Given the description of an element on the screen output the (x, y) to click on. 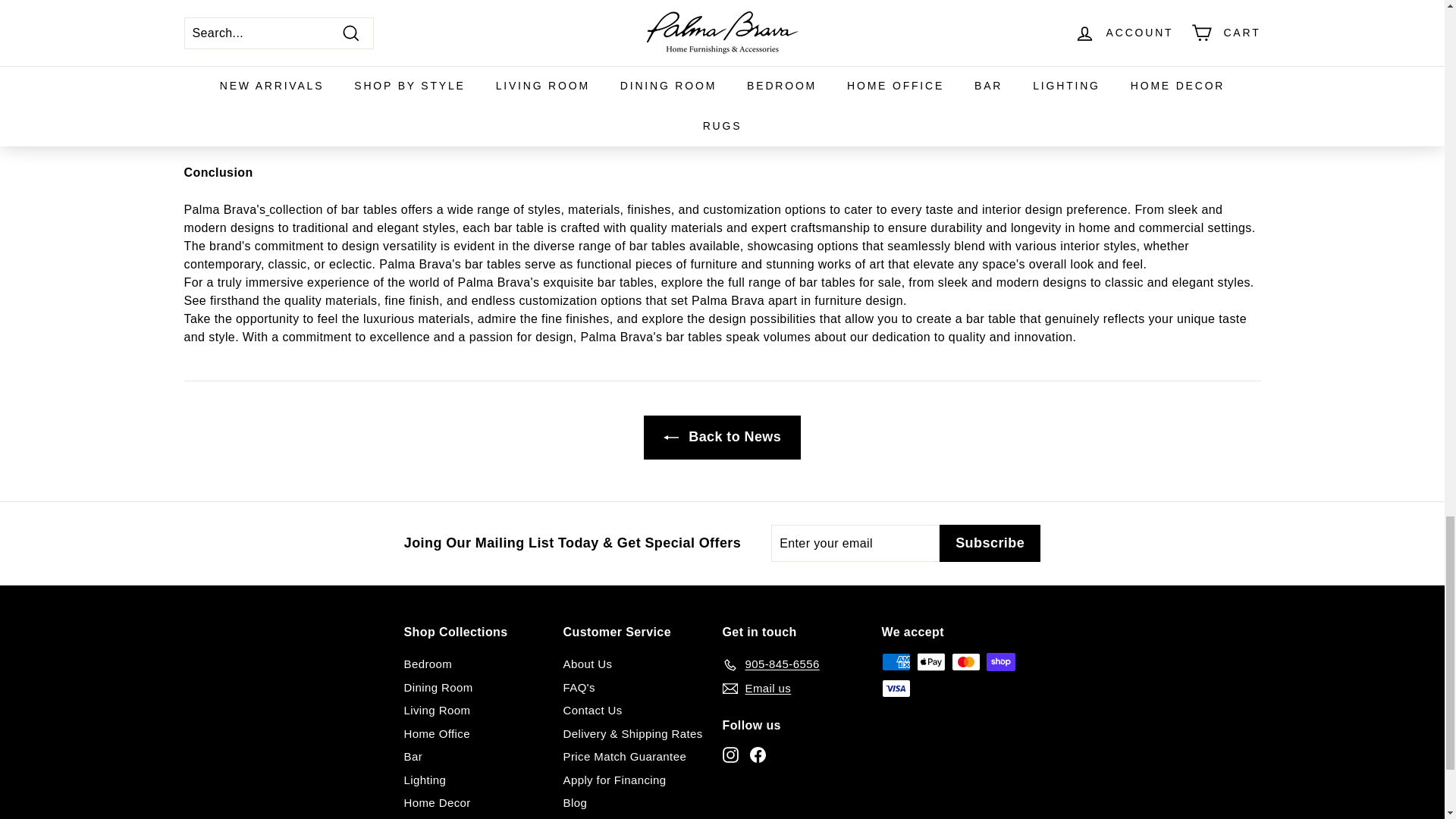
Palma Brava Home Furnishings on Instagram (730, 754)
American Express (895, 661)
Mastercard (964, 661)
Apple Pay (929, 661)
Visa (895, 688)
Shop Pay (999, 661)
Palma Brava Home Furnishings on Facebook (757, 754)
